Given the description of an element on the screen output the (x, y) to click on. 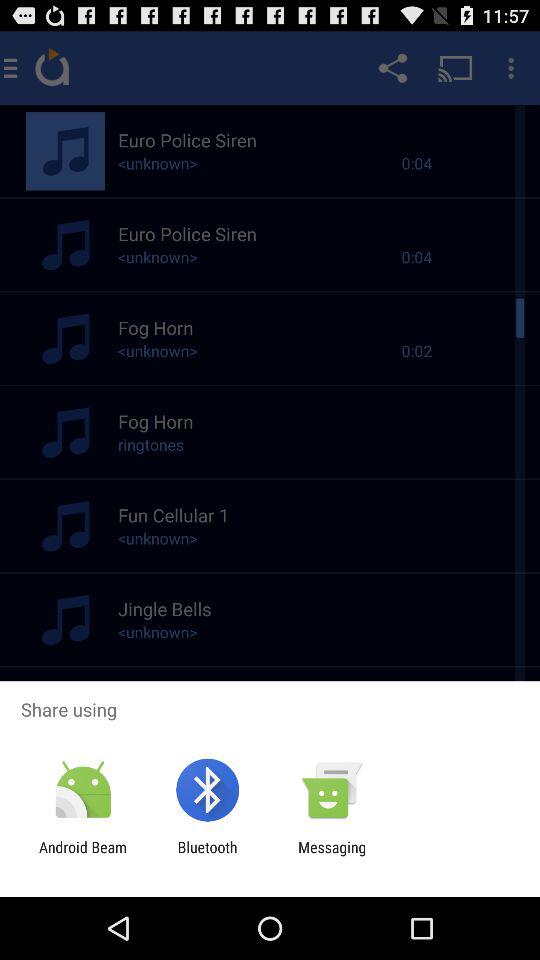
tap the item to the left of bluetooth (83, 856)
